Given the description of an element on the screen output the (x, y) to click on. 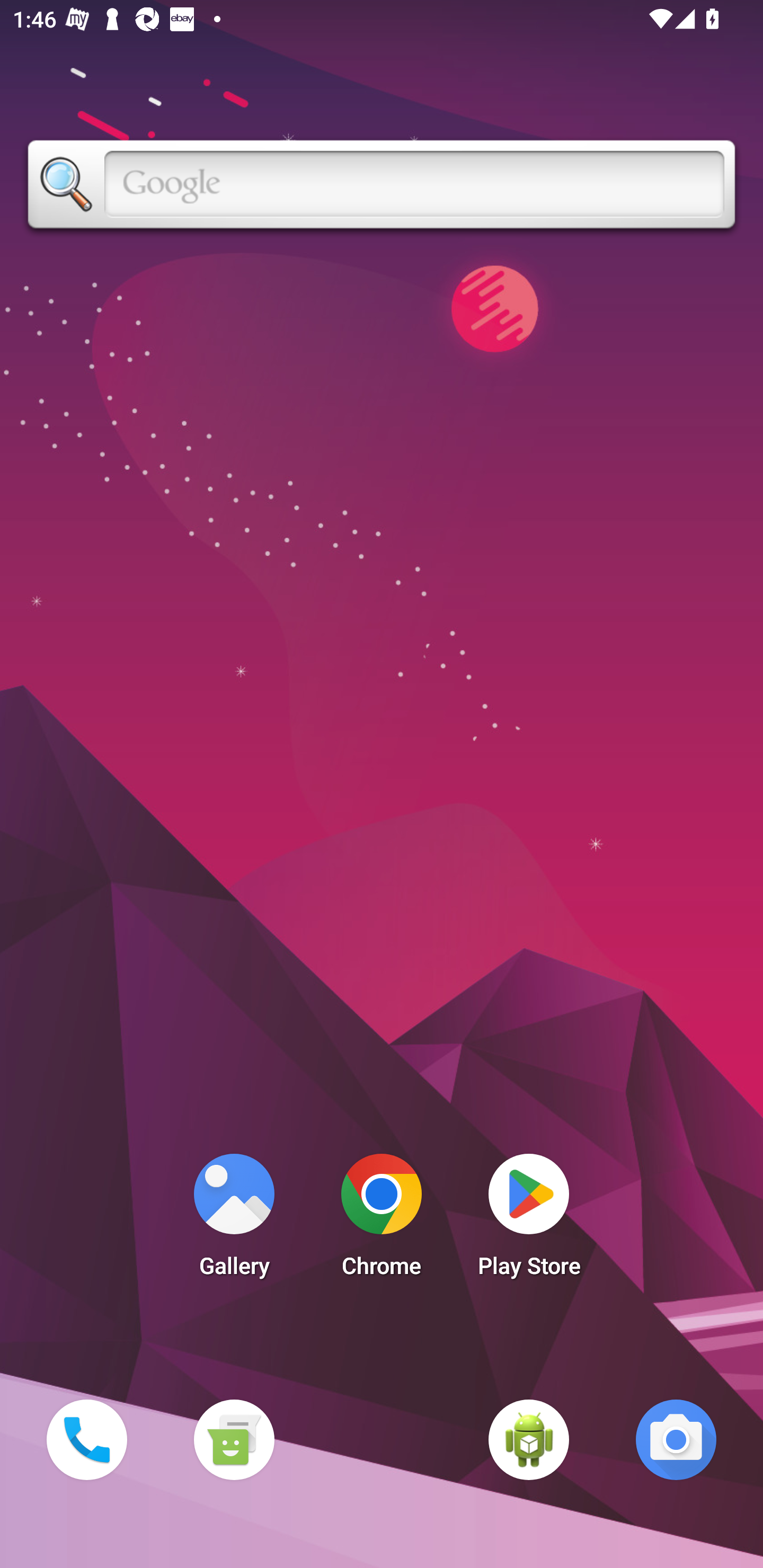
Gallery (233, 1220)
Chrome (381, 1220)
Play Store (528, 1220)
Phone (86, 1439)
Messaging (233, 1439)
WebView Browser Tester (528, 1439)
Camera (676, 1439)
